Given the description of an element on the screen output the (x, y) to click on. 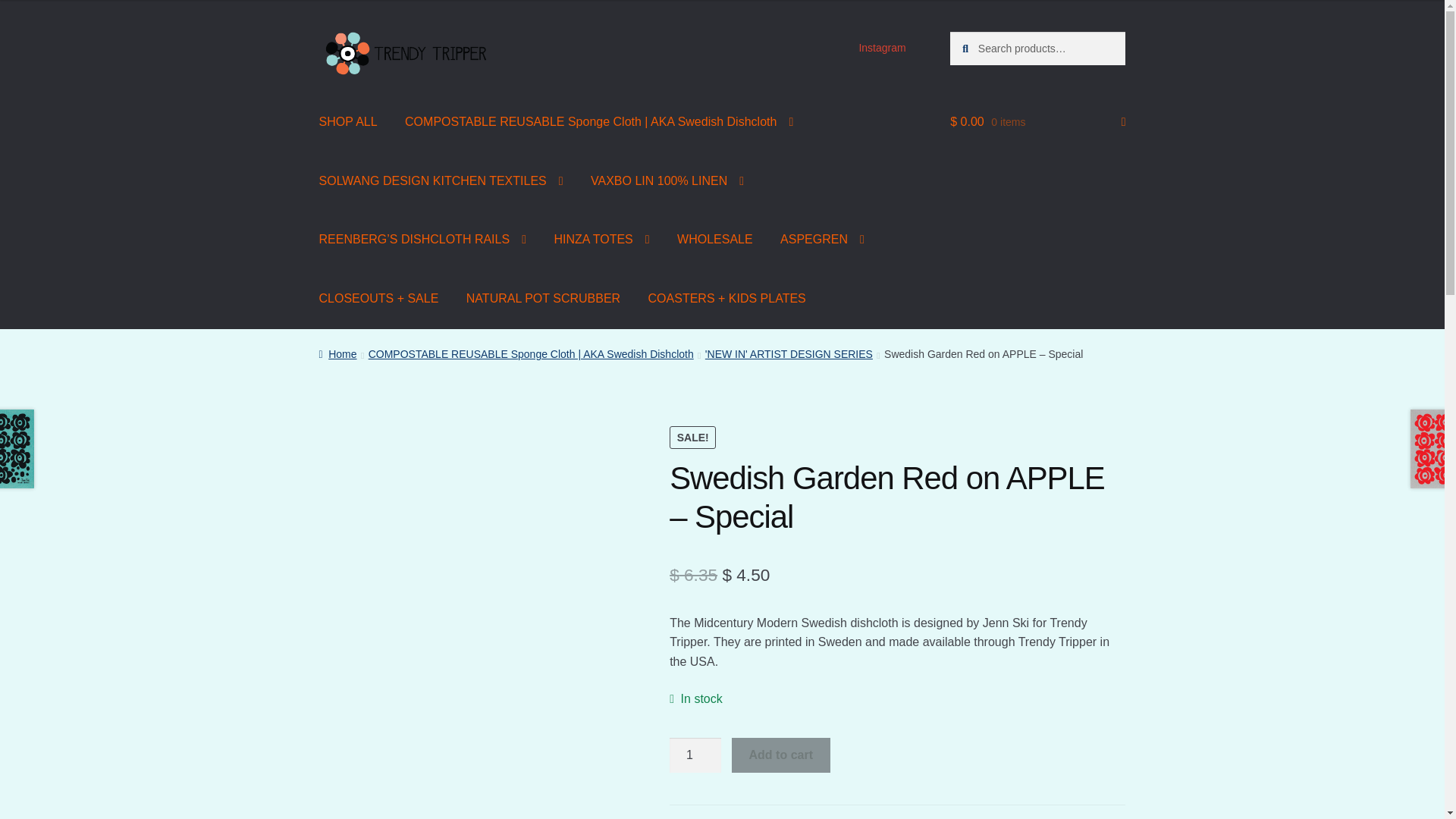
Instagram (881, 47)
SHOP ALL (348, 121)
1 (694, 755)
ASPEGREN (822, 239)
View your shopping cart (1037, 121)
WHOLESALE (715, 239)
HINZA TOTES (601, 239)
SOLWANG DESIGN KITCHEN TEXTILES (441, 180)
